Given the description of an element on the screen output the (x, y) to click on. 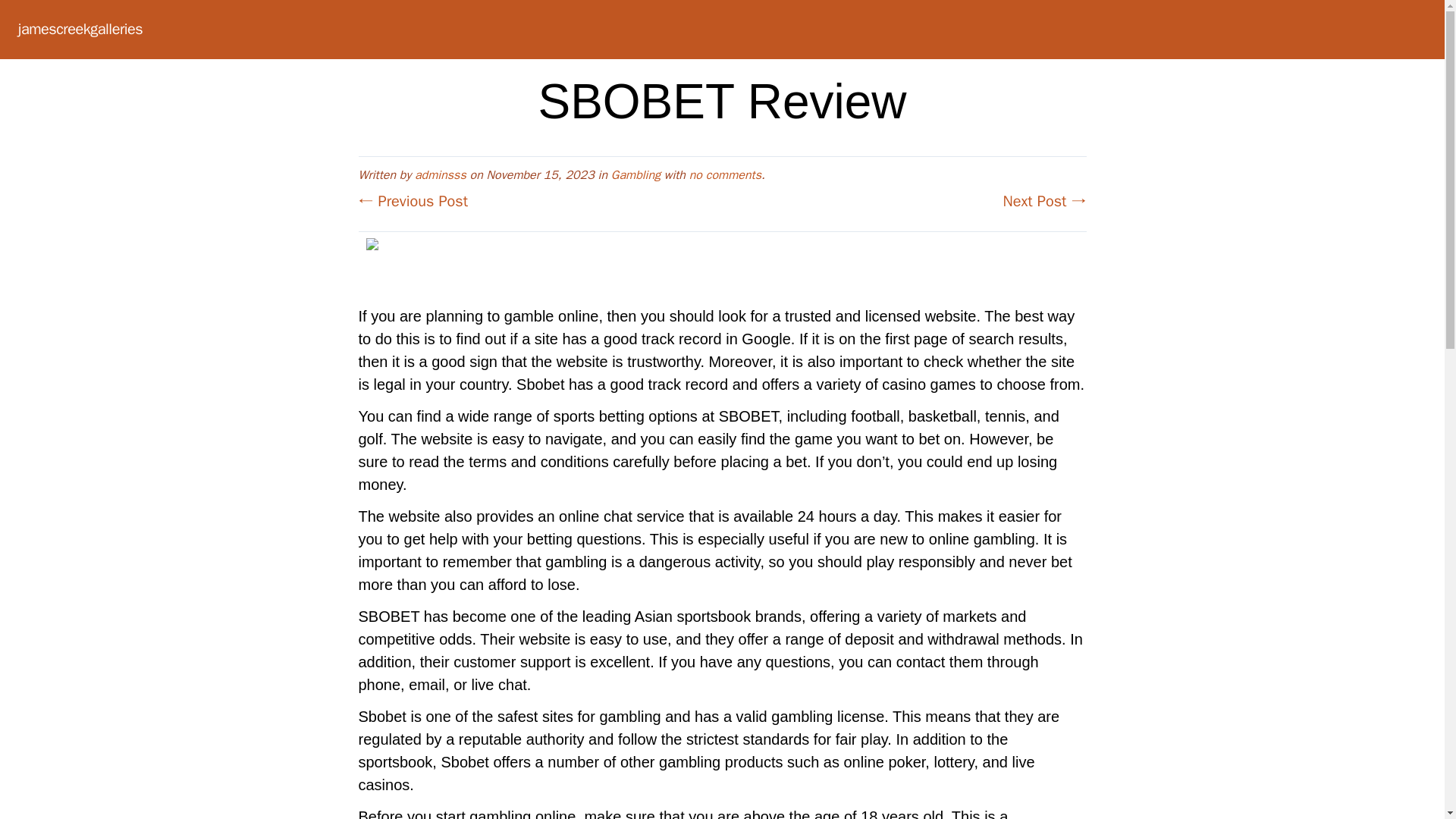
adminsss (439, 174)
no comments (724, 174)
Gambling (636, 174)
no comments (724, 174)
jamescreekgalleries (79, 29)
